Given the description of an element on the screen output the (x, y) to click on. 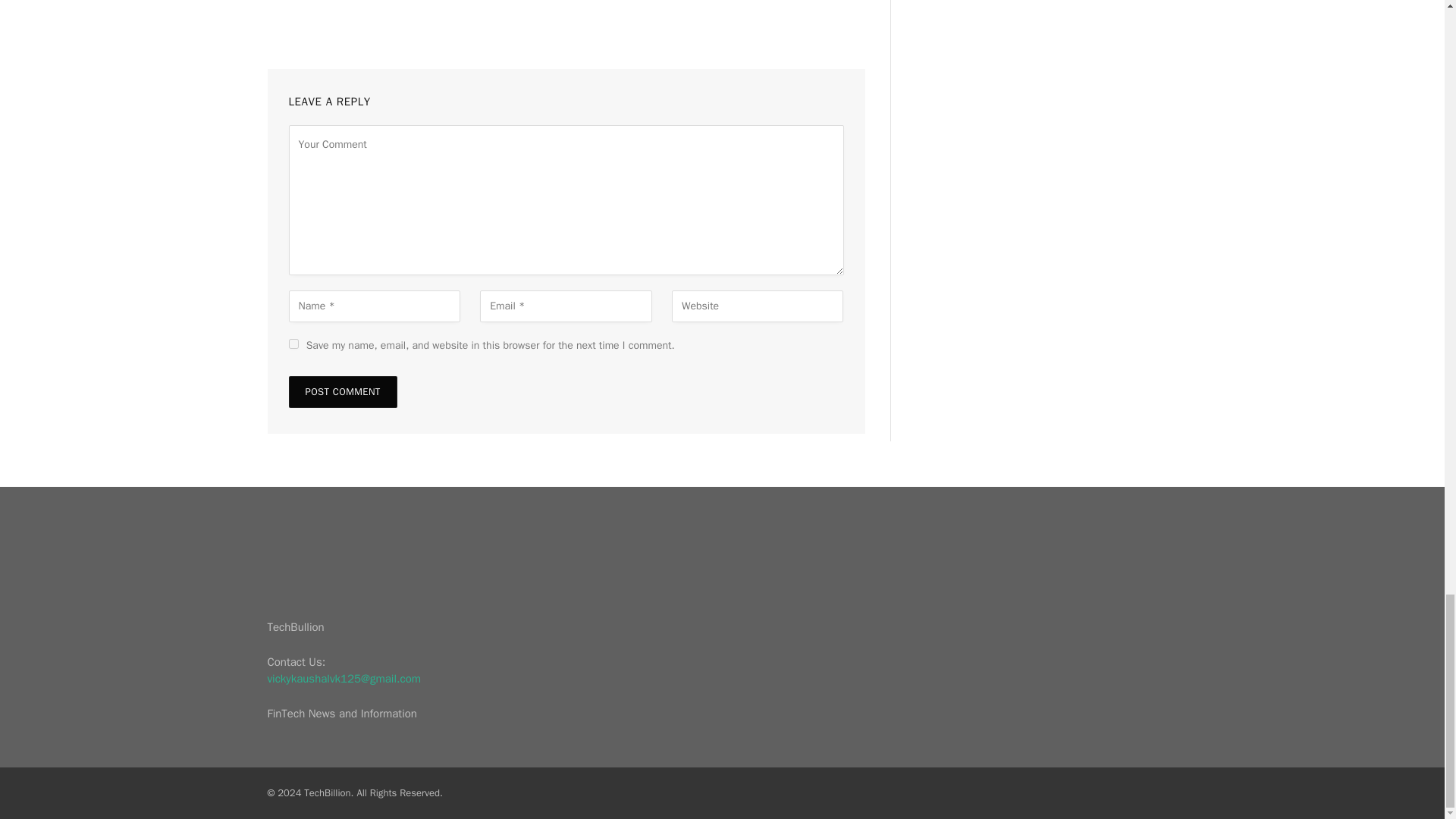
yes (293, 343)
Post Comment (342, 391)
Post Comment (342, 391)
